Given the description of an element on the screen output the (x, y) to click on. 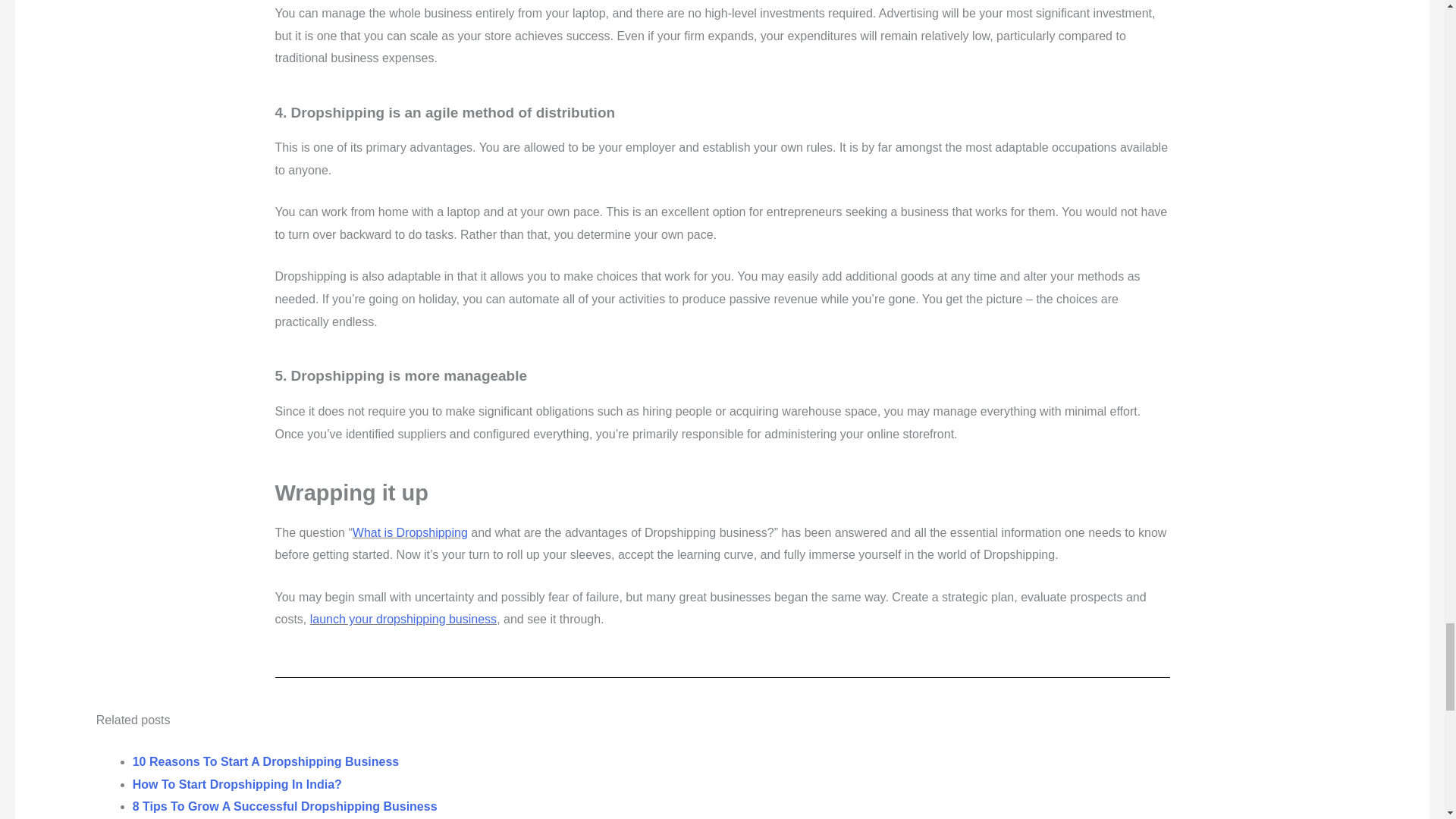
8 Tips To Grow A Successful Dropshipping Business (285, 806)
launch your dropshipping business (403, 618)
10 Reasons To Start A Dropshipping Business (265, 761)
8 Tips To Grow A Successful Dropshipping Business (285, 806)
How To Start Dropshipping In India? (237, 784)
How To Start Dropshipping In India? (237, 784)
What is Dropshipping (409, 532)
10 Reasons To Start A Dropshipping Business (265, 761)
